Given the description of an element on the screen output the (x, y) to click on. 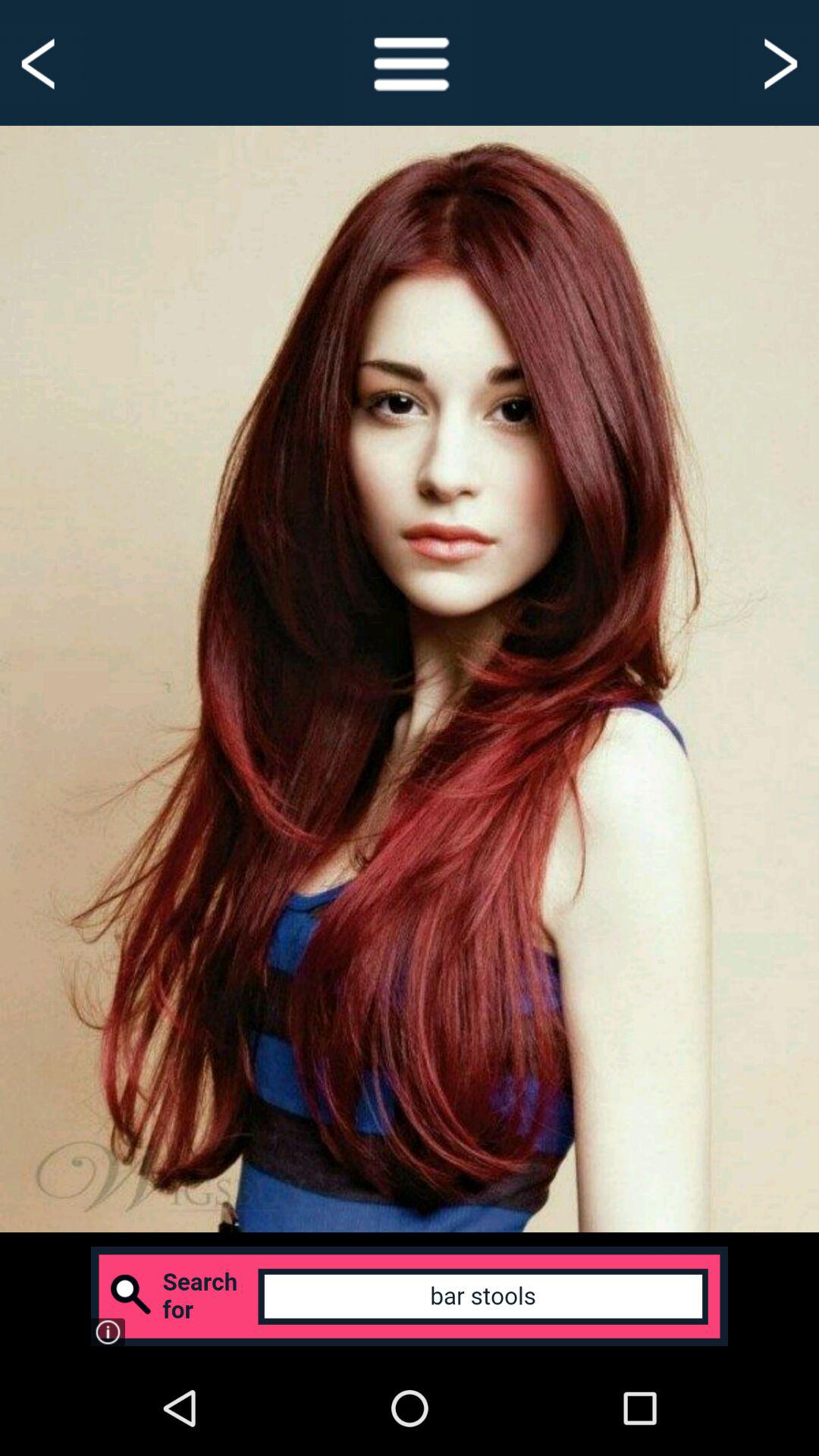
next photo (778, 62)
